Given the description of an element on the screen output the (x, y) to click on. 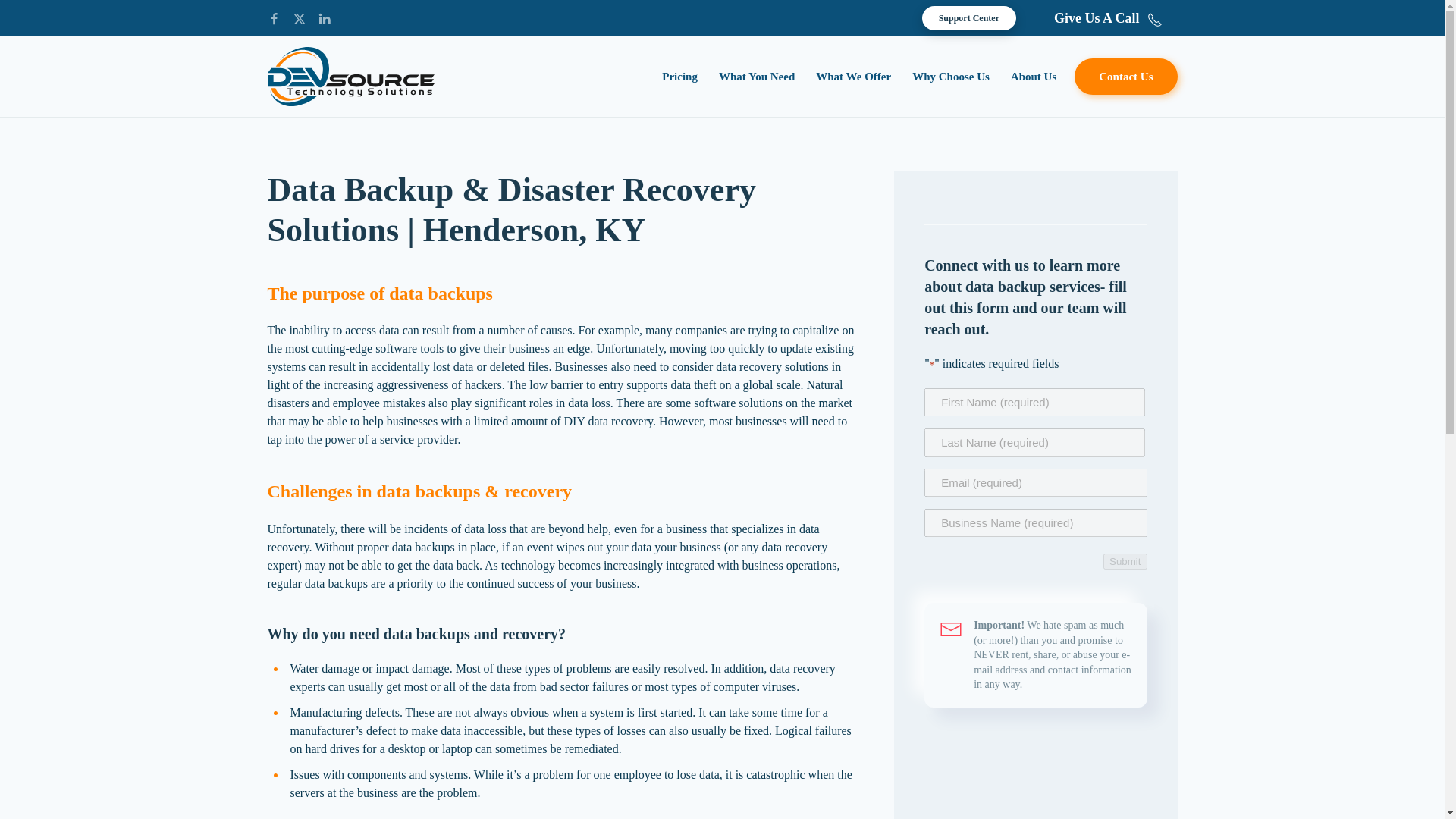
Submit (1125, 561)
Support Center (968, 17)
